Given the description of an element on the screen output the (x, y) to click on. 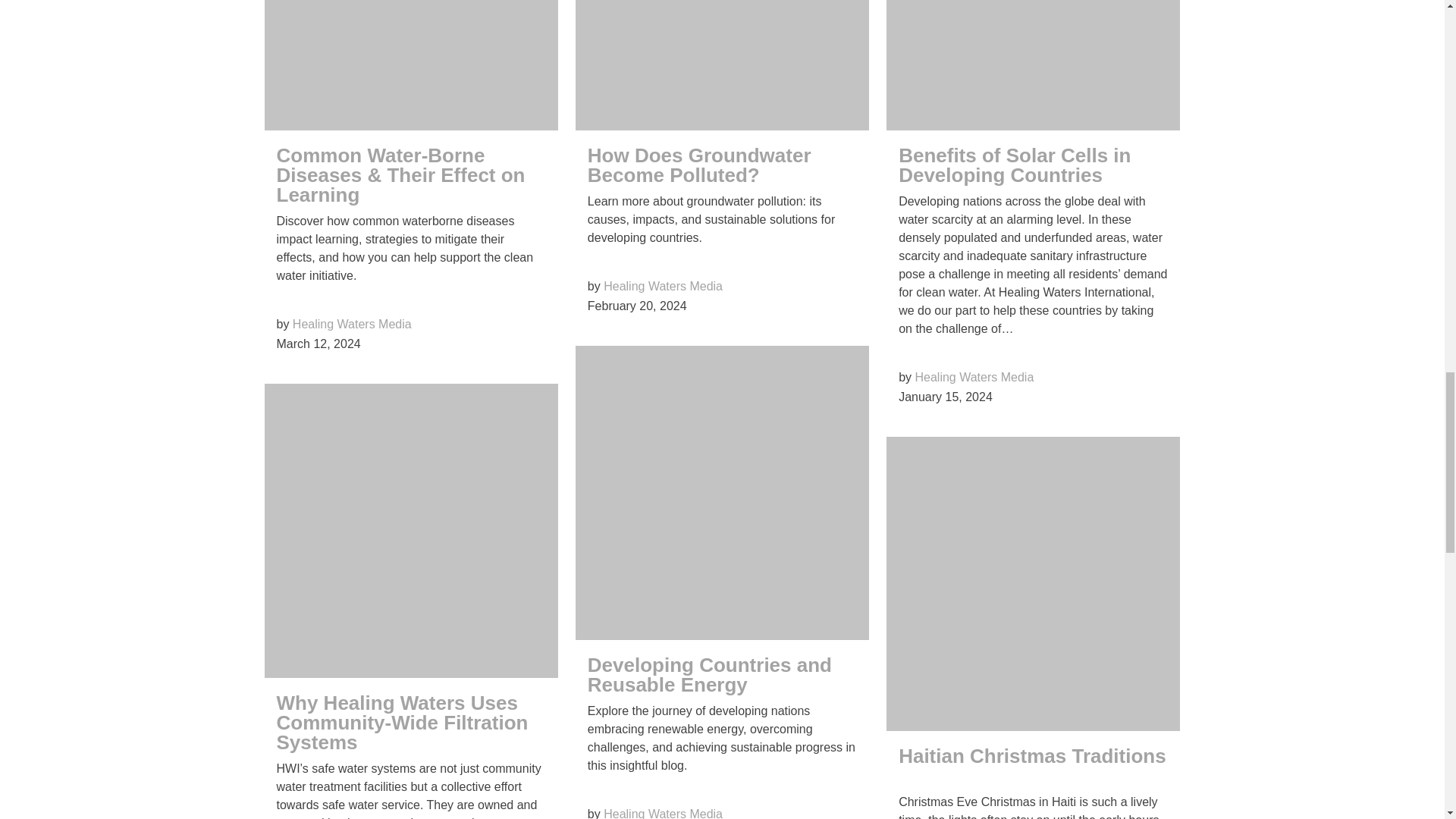
Why Healing Waters Uses Community-Wide Filtration Systems (401, 722)
Healing Waters Media (663, 286)
How Does Groundwater Become Polluted? (699, 165)
Healing Waters Media (352, 323)
